Given the description of an element on the screen output the (x, y) to click on. 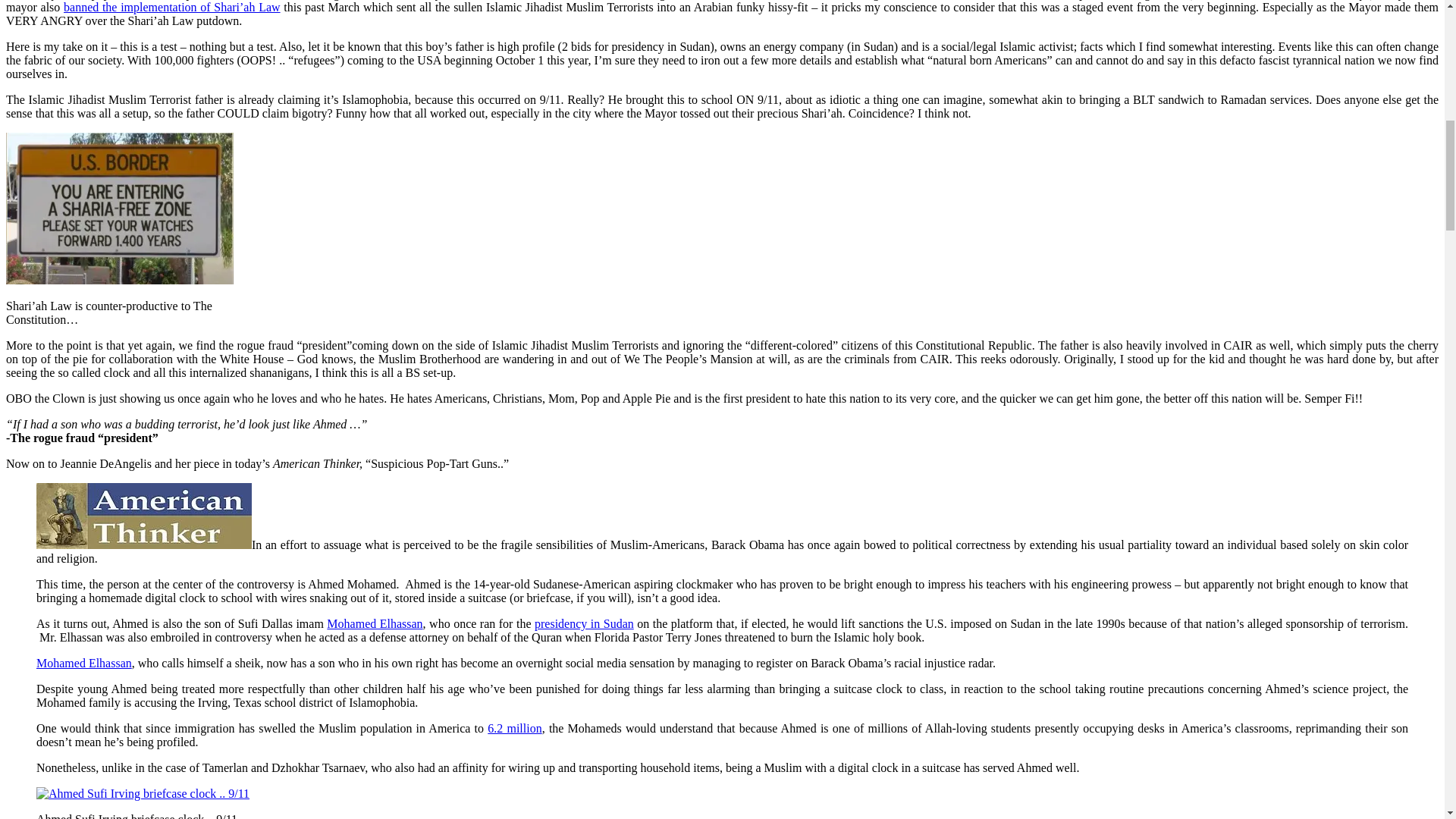
presidency in Sudan (583, 291)
Mohamed Elhassan (84, 331)
Rodney Lynch (198, 774)
Mohamed Elhassan (374, 291)
Hello Kitty bubble guns (797, 813)
Josh Welch (742, 657)
Space Camp USA (1125, 592)
Mark Zuckerburg (431, 592)
coffee cups (397, 526)
cool clock (148, 631)
NASA (847, 592)
6.2 million (514, 396)
